Given the description of an element on the screen output the (x, y) to click on. 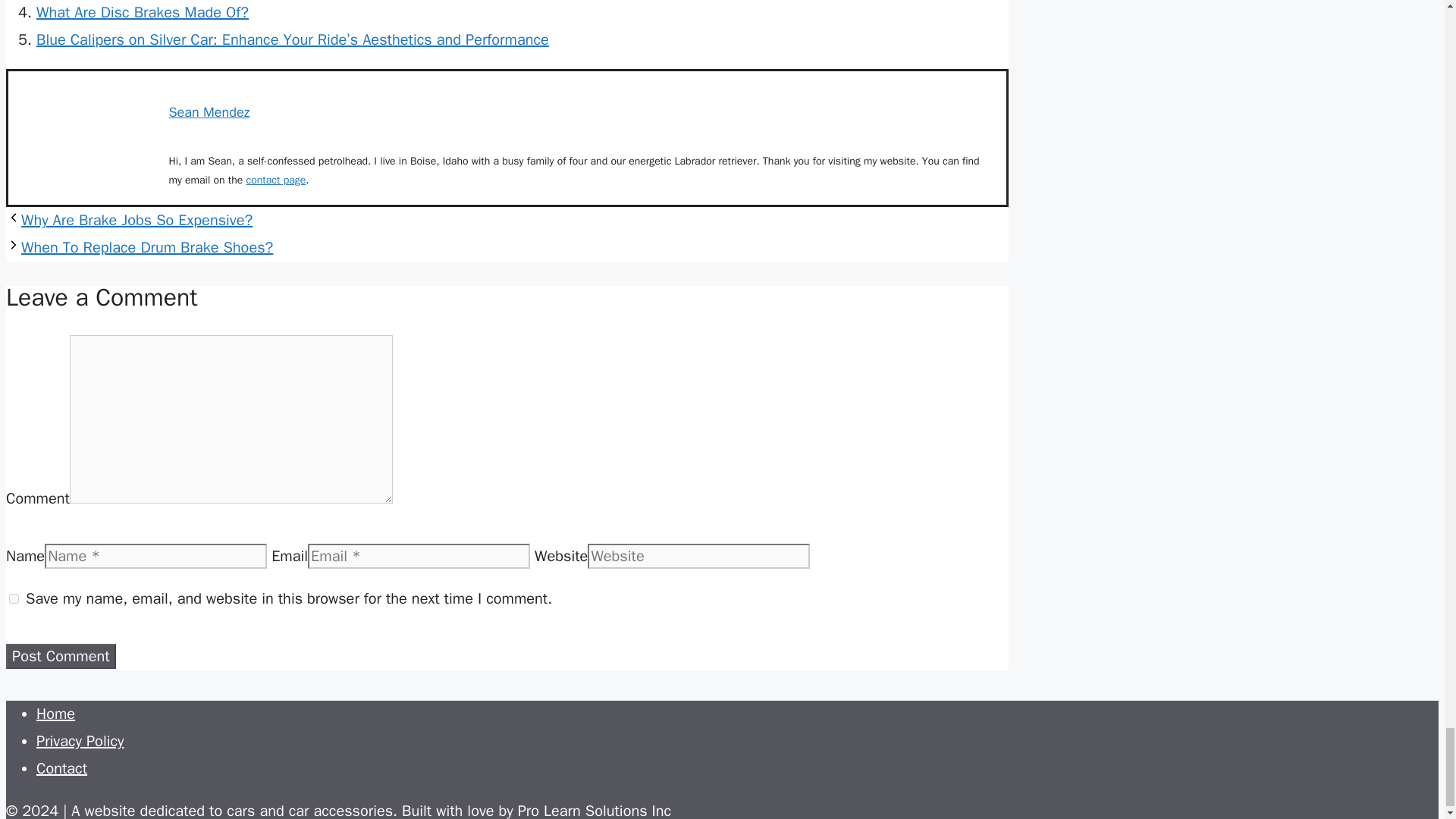
What Are Disc Brakes Made Of? (142, 12)
Post Comment (60, 656)
yes (13, 598)
